Given the description of an element on the screen output the (x, y) to click on. 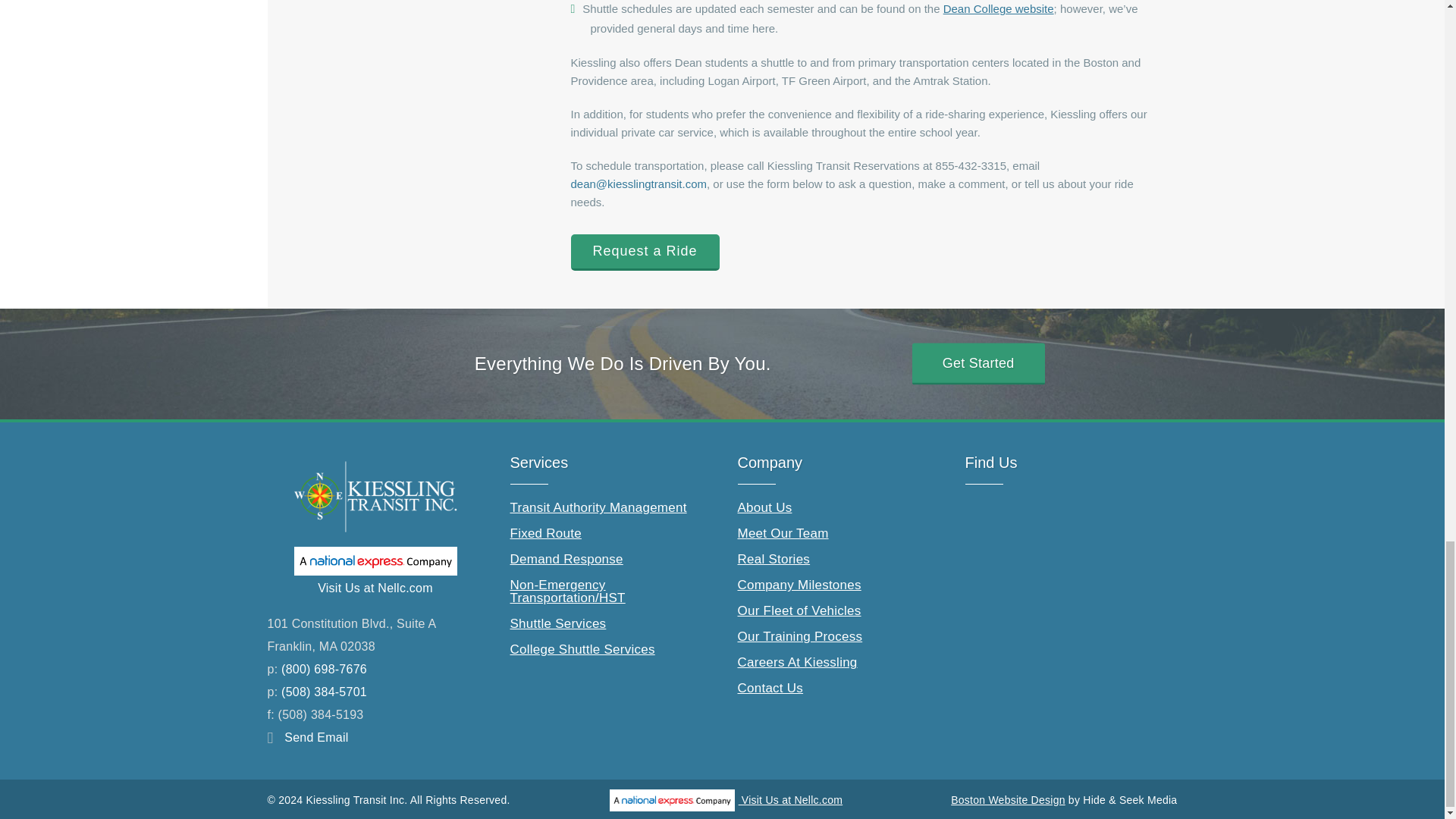
Custom Google Map of the three Kiessling Transit locations (1077, 579)
